Given the description of an element on the screen output the (x, y) to click on. 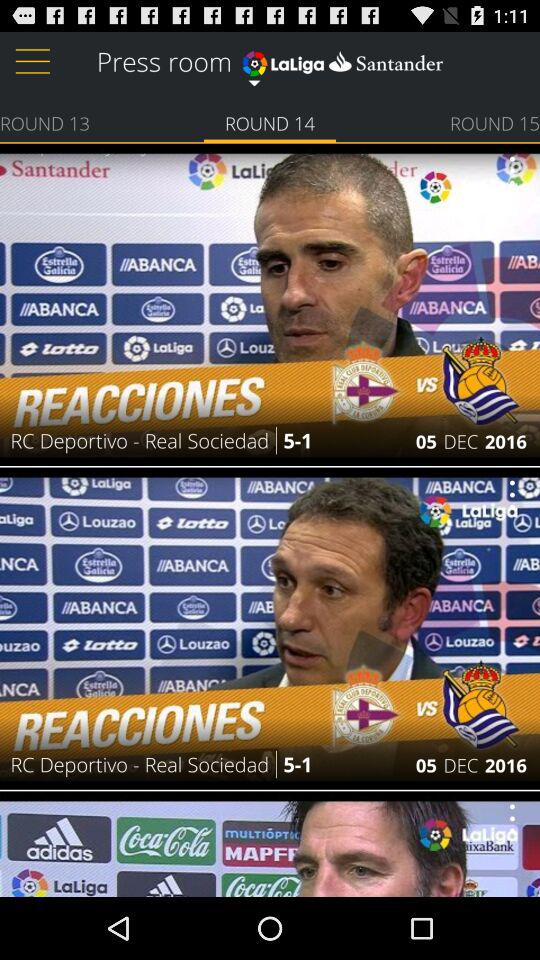
tap round 15 app (494, 122)
